Given the description of an element on the screen output the (x, y) to click on. 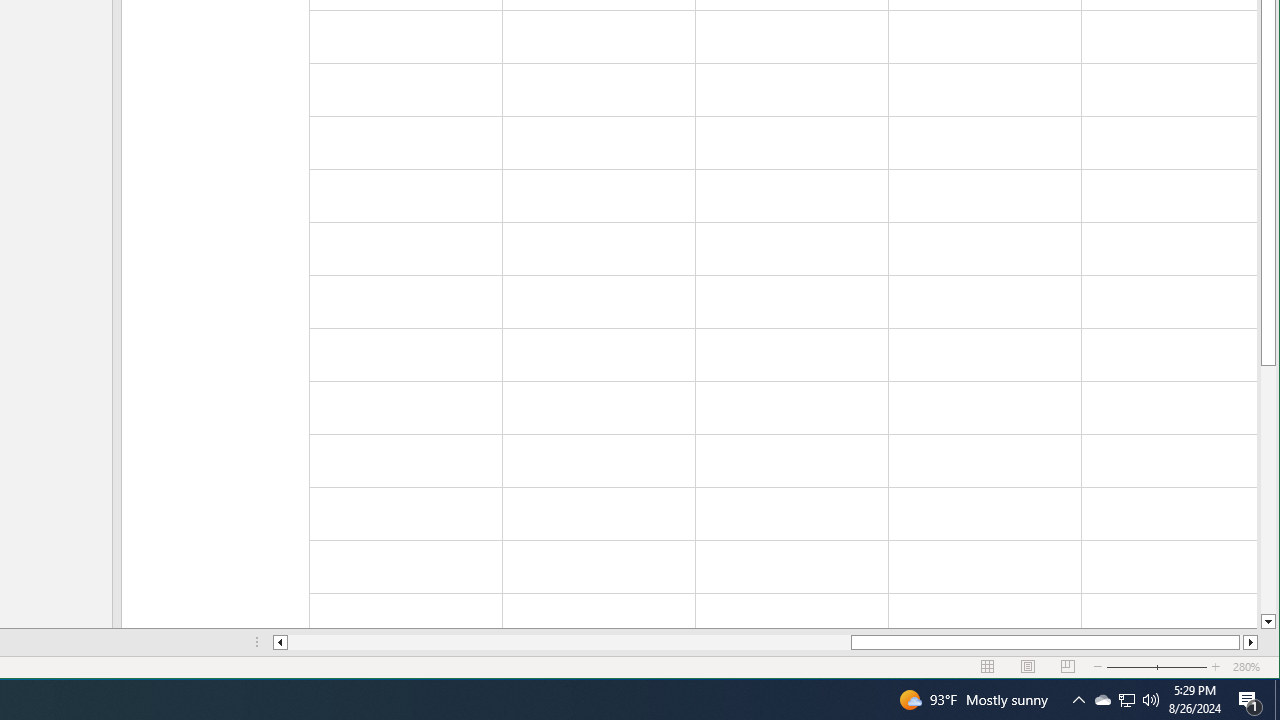
Action Center, 1 new notification (1250, 699)
